Given the description of an element on the screen output the (x, y) to click on. 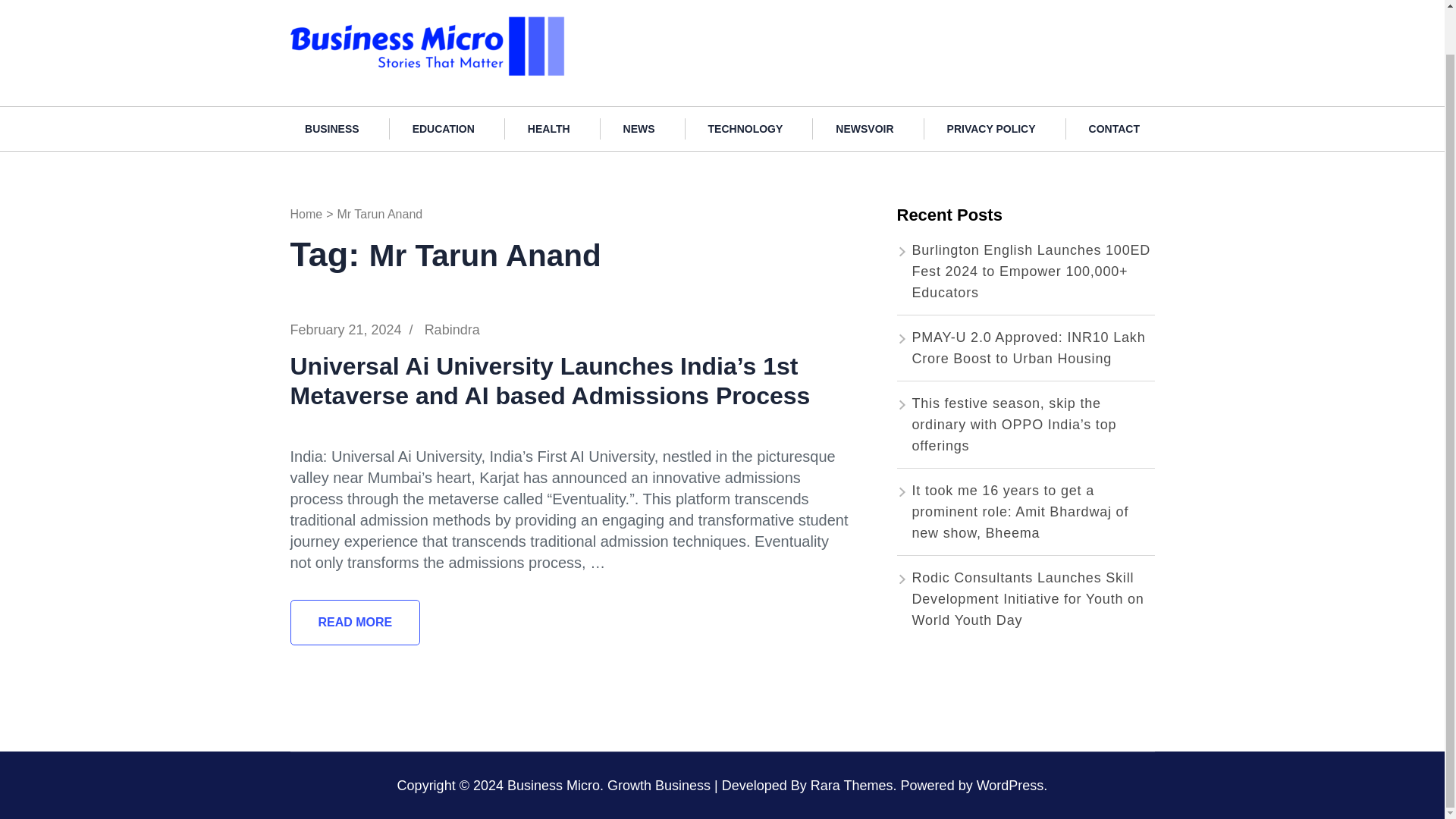
Business Micro (628, 22)
WordPress (1009, 785)
READ MORE (354, 622)
NEWS (639, 128)
NEWSVOIR (863, 128)
Business Micro (552, 785)
PMAY-U 2.0 Approved: INR10 Lakh Crore Boost to Urban Housing (1027, 348)
BUSINESS (331, 128)
Rabindra (452, 329)
